Given the description of an element on the screen output the (x, y) to click on. 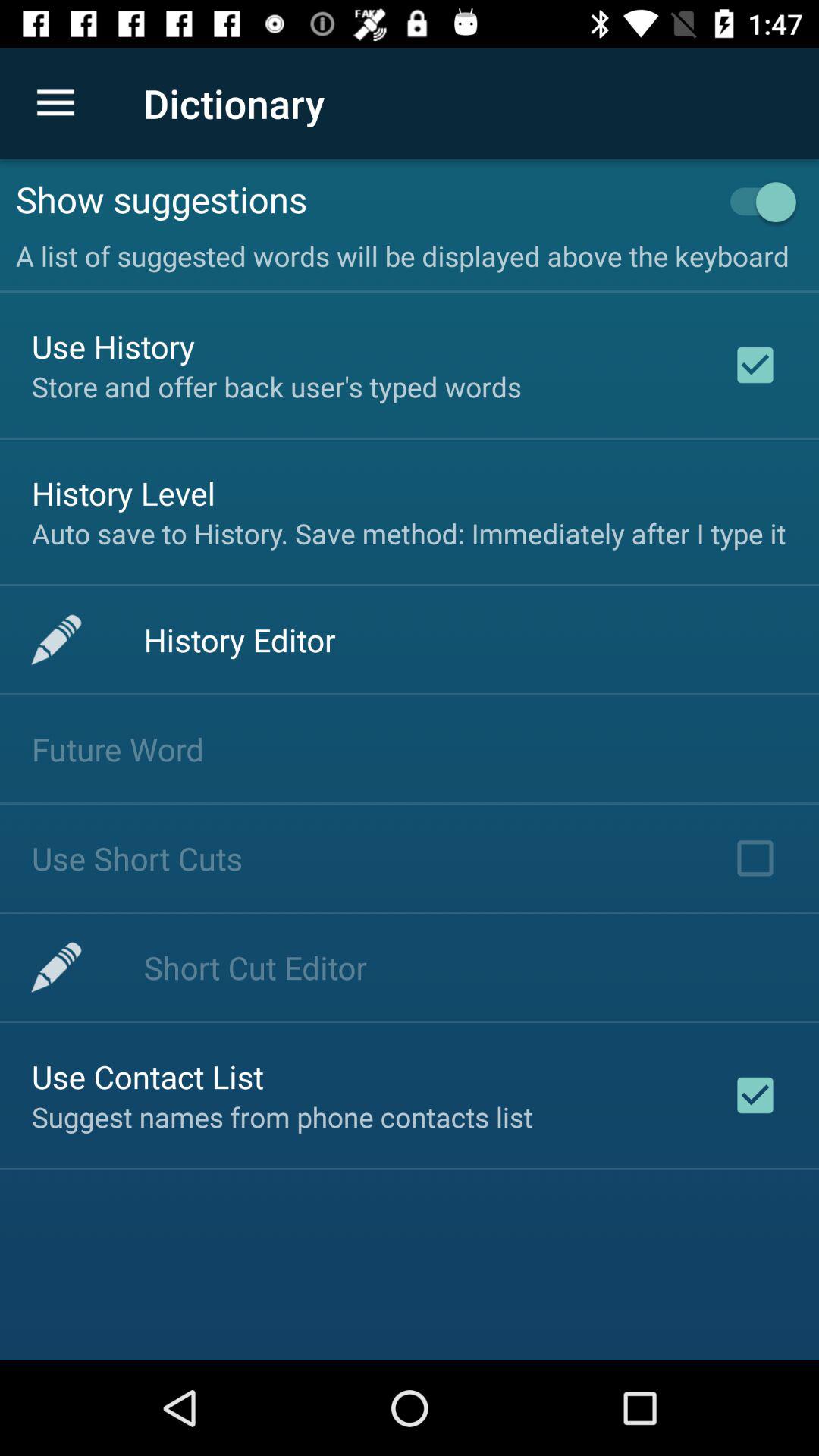
tap the suggest names from (281, 1116)
